Given the description of an element on the screen output the (x, y) to click on. 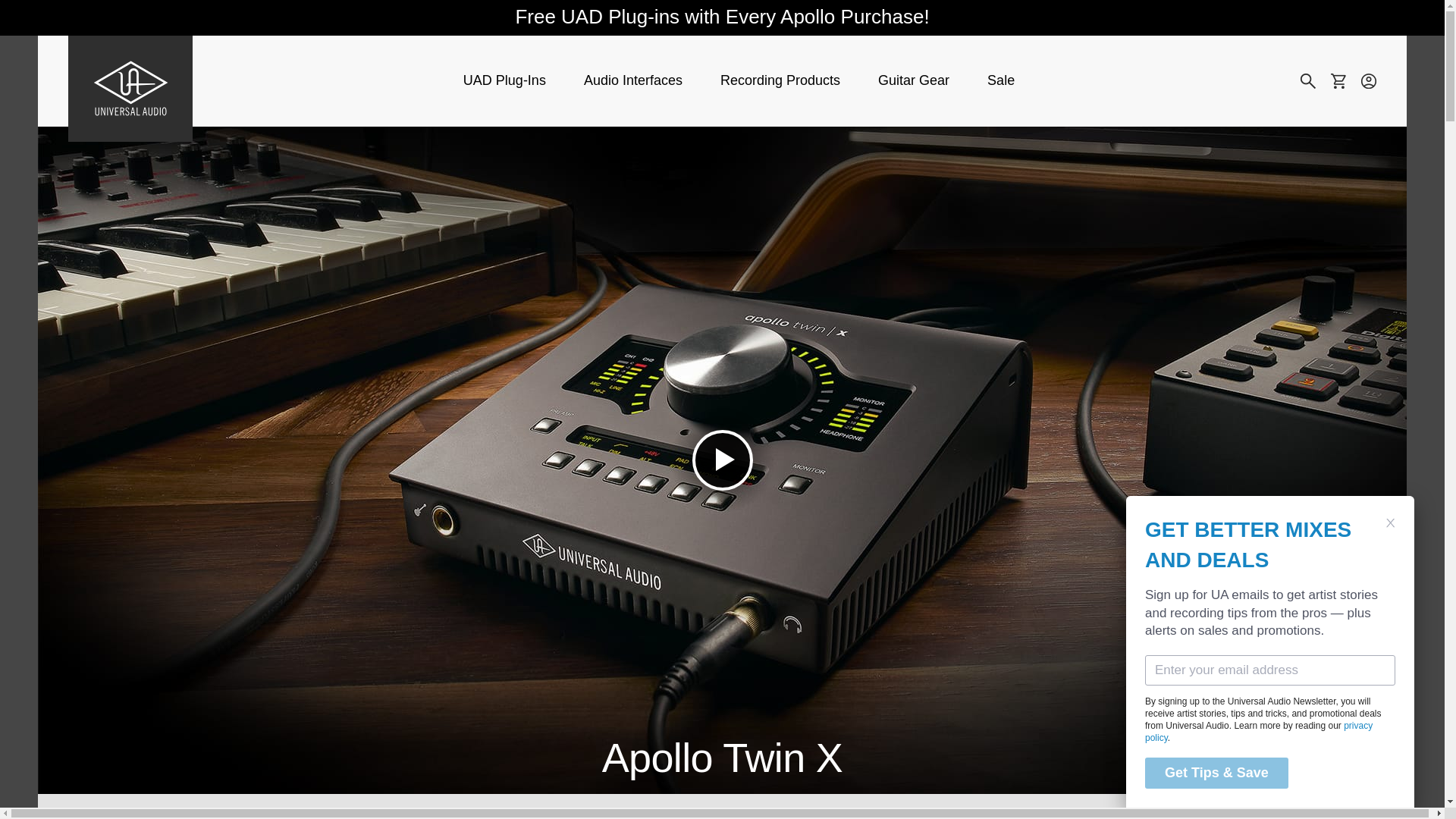
UAD Plug-Ins (504, 79)
Back to Main Product Info (177, 812)
Guitar Gear (913, 79)
Cart (1337, 80)
Audio Interfaces (632, 79)
Sale (1000, 79)
Search (1308, 80)
Recording Products (780, 79)
